Given the description of an element on the screen output the (x, y) to click on. 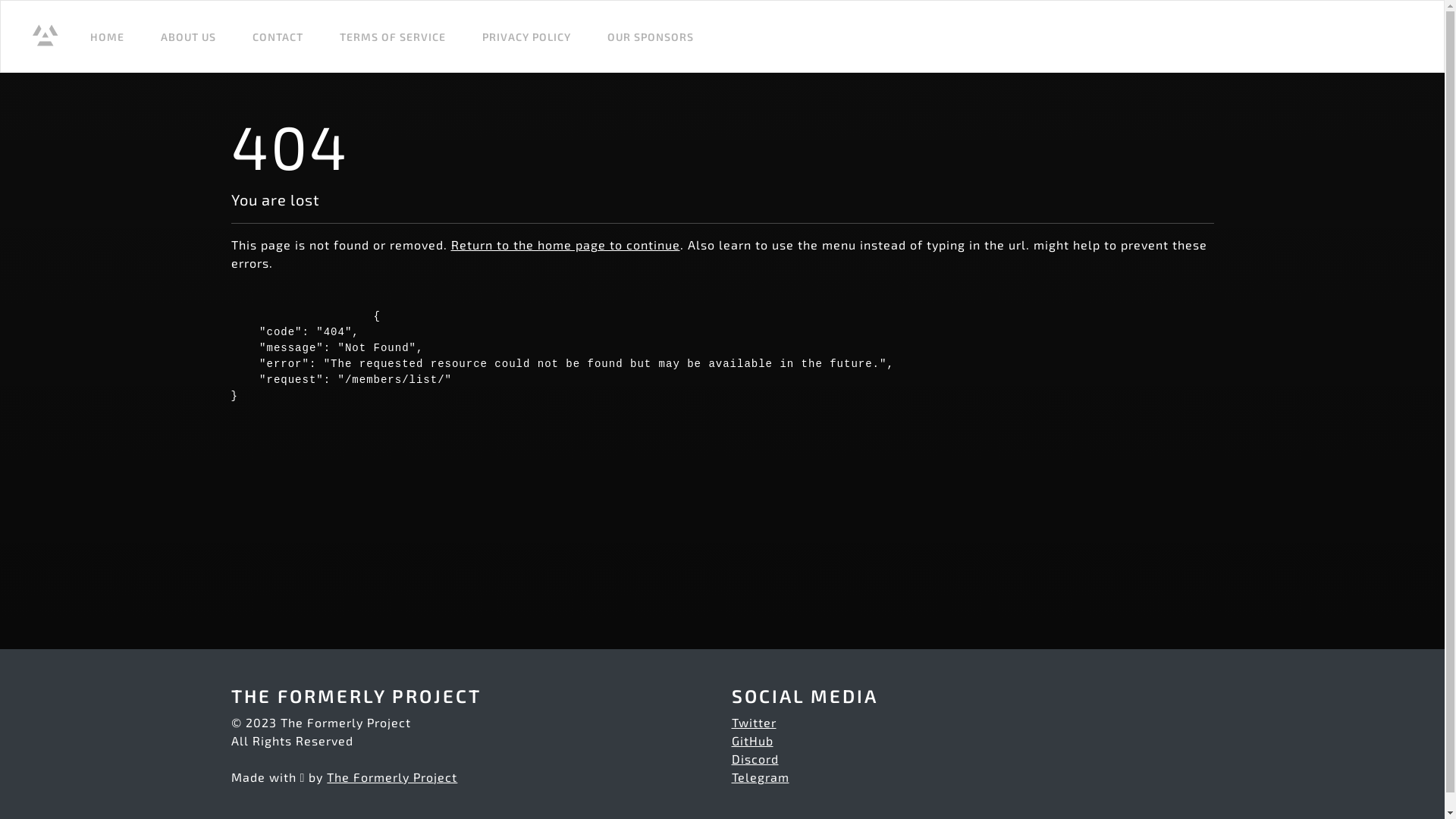
Twitter Element type: text (753, 722)
Telegram Element type: text (759, 776)
OUR SPONSORS Element type: text (650, 36)
HOME Element type: text (107, 36)
CONTACT Element type: text (277, 36)
ABOUT US Element type: text (188, 36)
TERMS OF SERVICE Element type: text (392, 36)
The Formerly Project Element type: text (391, 776)
Return to the home page to continue Element type: text (564, 244)
GitHub Element type: text (751, 740)
PRIVACY POLICY Element type: text (526, 36)
Discord Element type: text (754, 758)
